Given the description of an element on the screen output the (x, y) to click on. 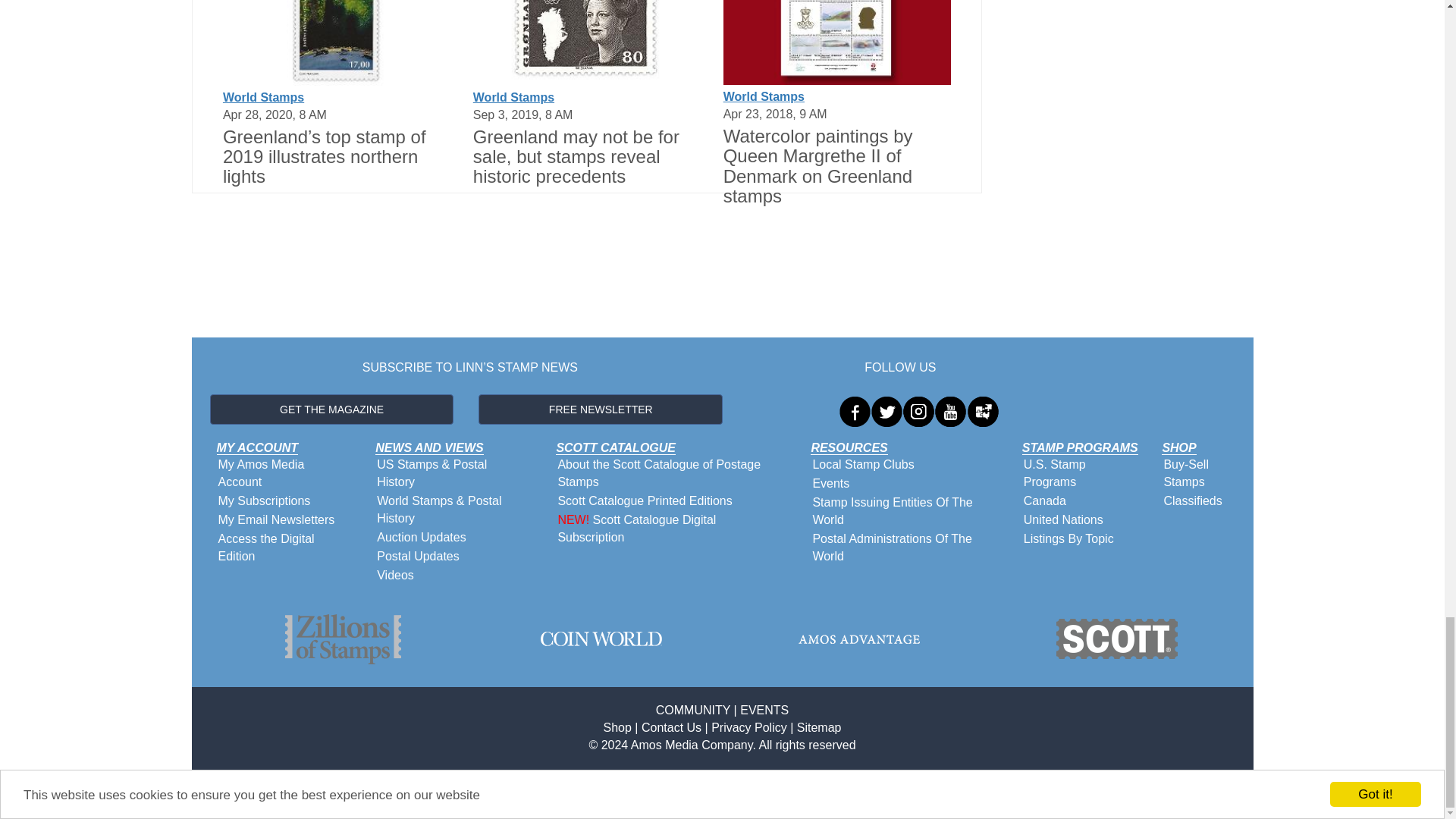
3rd party ad content (587, 294)
